Given the description of an element on the screen output the (x, y) to click on. 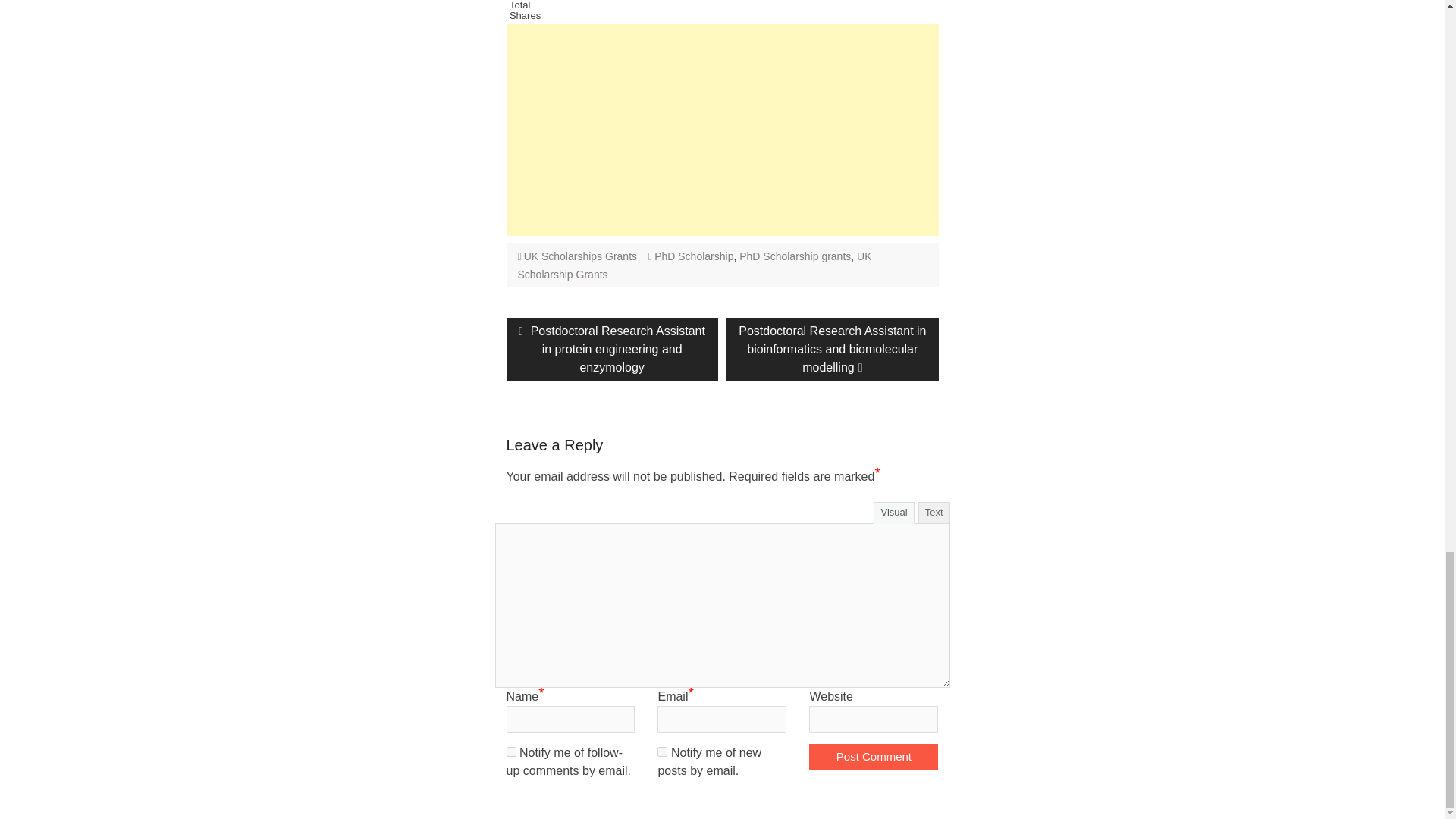
Post Comment (873, 755)
subscribe (511, 750)
subscribe (662, 750)
